Given the description of an element on the screen output the (x, y) to click on. 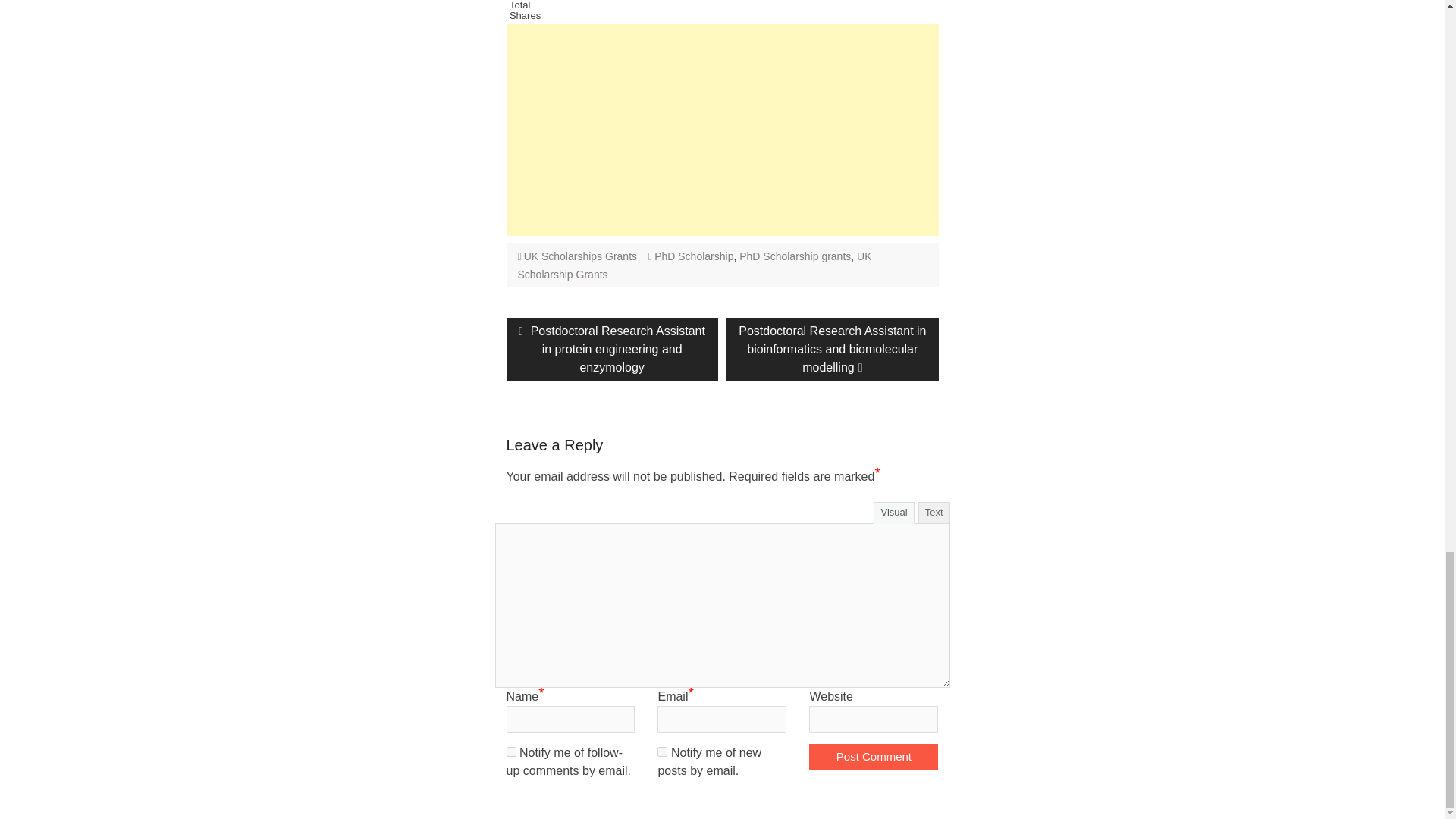
Post Comment (873, 755)
subscribe (511, 750)
subscribe (662, 750)
